Given the description of an element on the screen output the (x, y) to click on. 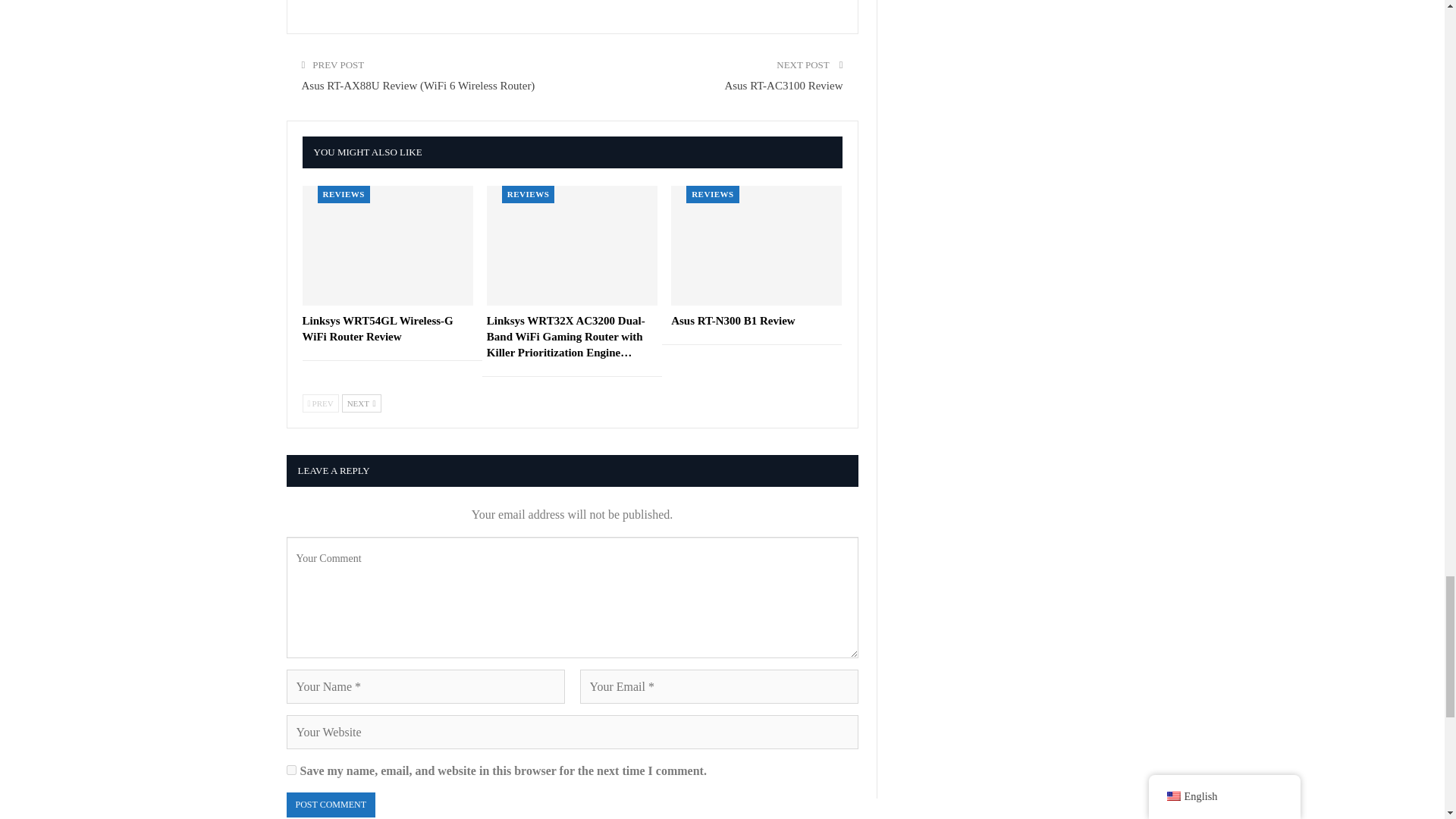
Post Comment (330, 804)
Next (361, 402)
Linksys WRT54GL Wireless-G WiFi Router Review (386, 245)
Linksys WRT54GL Wireless-G WiFi Router Review (376, 328)
Asus RT-N300 B1 Review (756, 245)
yes (291, 769)
Asus RT-N300 B1 Review (732, 320)
Previous (319, 402)
